Given the description of an element on the screen output the (x, y) to click on. 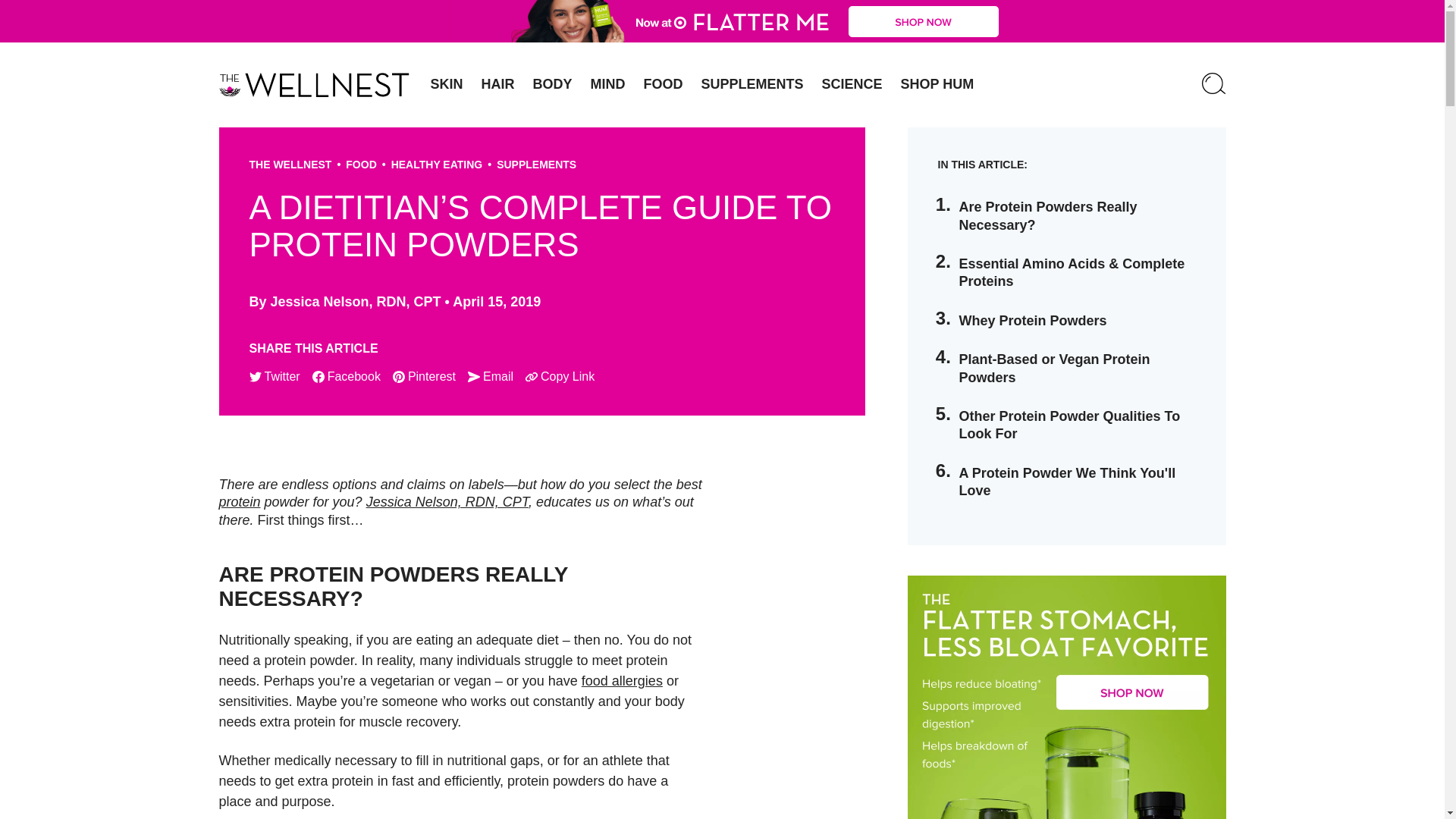
SHOP HUM (937, 84)
Search (1213, 84)
HAIR (497, 84)
BODY (552, 84)
FOOD (360, 164)
MIND (607, 84)
FOOD (663, 84)
HUM Nutrition Blog (313, 84)
SUPPLEMENTS (752, 84)
HEALTHY EATING (437, 164)
SUPPLEMENTS (536, 164)
Jessica Nelson, RDN, CPT (355, 301)
SKIN (446, 84)
SCIENCE (851, 84)
HUM Nutrition Blog (721, 21)
